Given the description of an element on the screen output the (x, y) to click on. 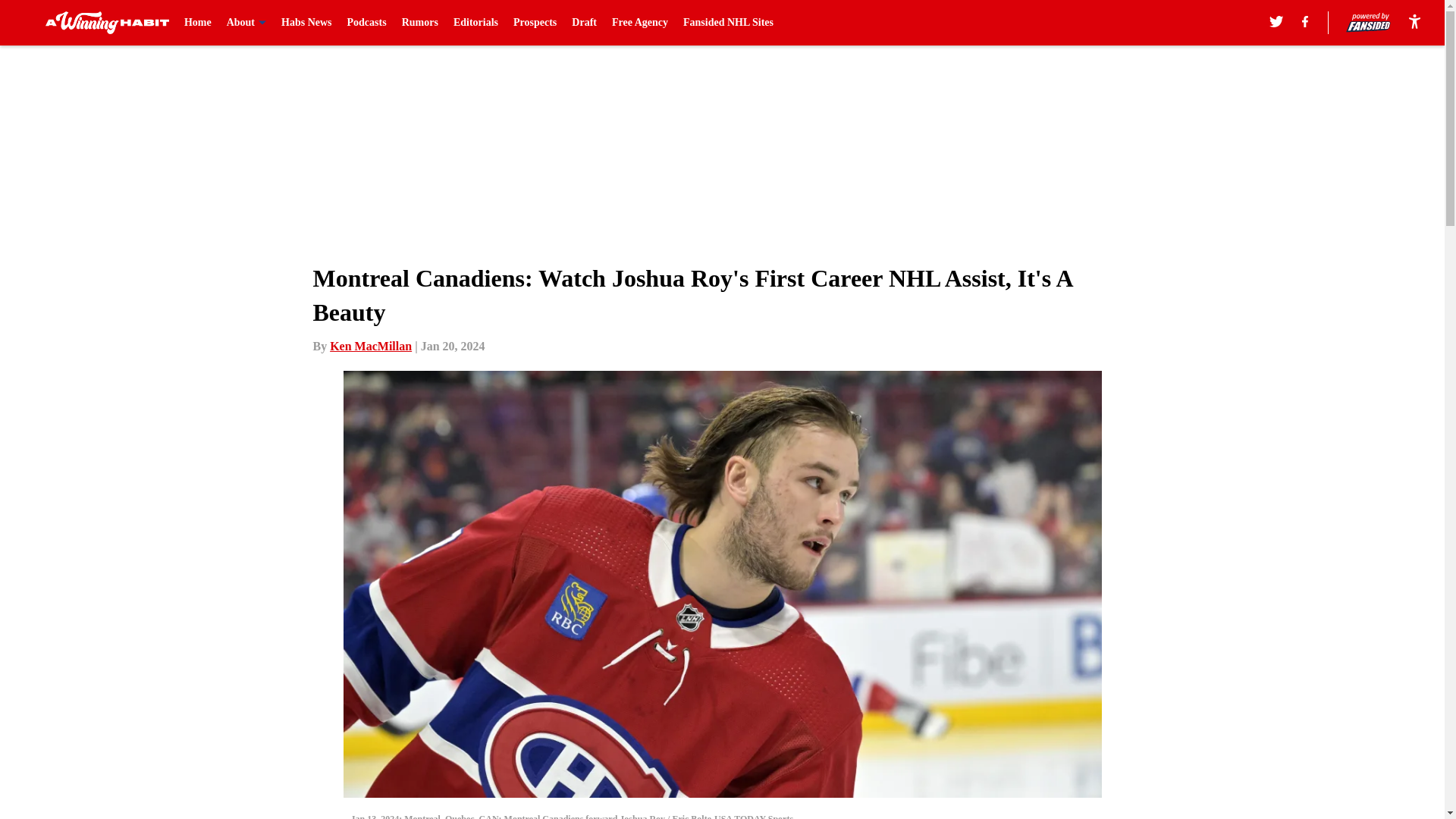
Editorials (474, 22)
Free Agency (639, 22)
Podcasts (367, 22)
Ken MacMillan (371, 345)
Prospects (534, 22)
Habs News (306, 22)
Home (197, 22)
Fansided NHL Sites (727, 22)
Rumors (419, 22)
Draft (584, 22)
